Given the description of an element on the screen output the (x, y) to click on. 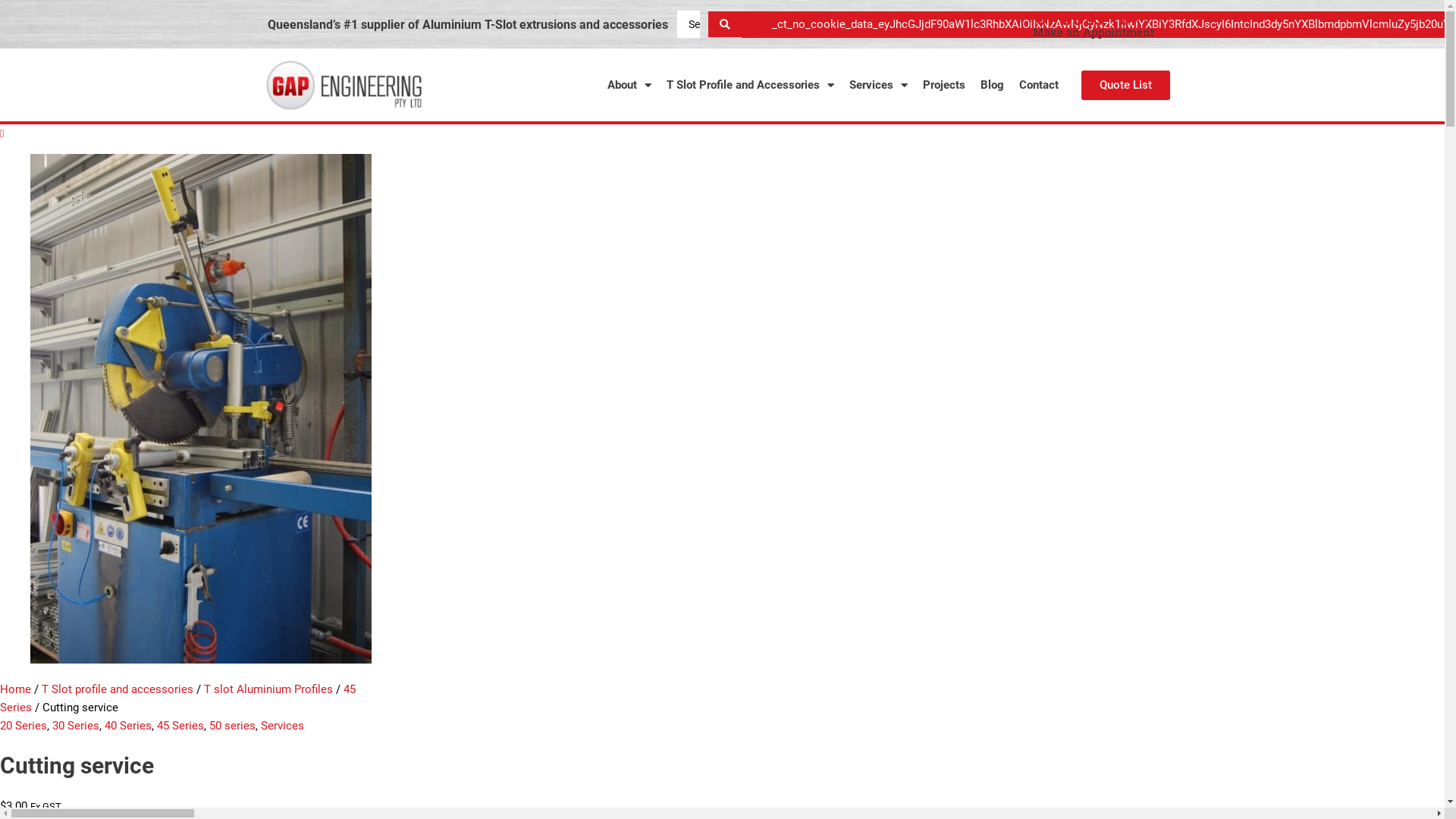
Projects Element type: text (943, 84)
Blog Element type: text (991, 84)
40 Series Element type: text (127, 725)
T-Slot Aluminium Profile drop saw Element type: hover (200, 408)
20 Series Element type: text (23, 725)
45 Series Element type: text (179, 725)
45 Series Element type: text (177, 698)
About Element type: text (628, 84)
30 Series Element type: text (75, 725)
07 3823 1079 Element type: text (1093, 18)
T slot Aluminium Profiles Element type: text (267, 689)
T Slot profile and accessories Element type: text (117, 689)
Services Element type: text (878, 84)
50 series Element type: text (232, 725)
T Slot Profile and Accessories Element type: text (749, 84)
Services Element type: text (282, 725)
Quote List Element type: text (1125, 85)
Contact Element type: text (1038, 84)
Home Element type: text (15, 689)
